Given the description of an element on the screen output the (x, y) to click on. 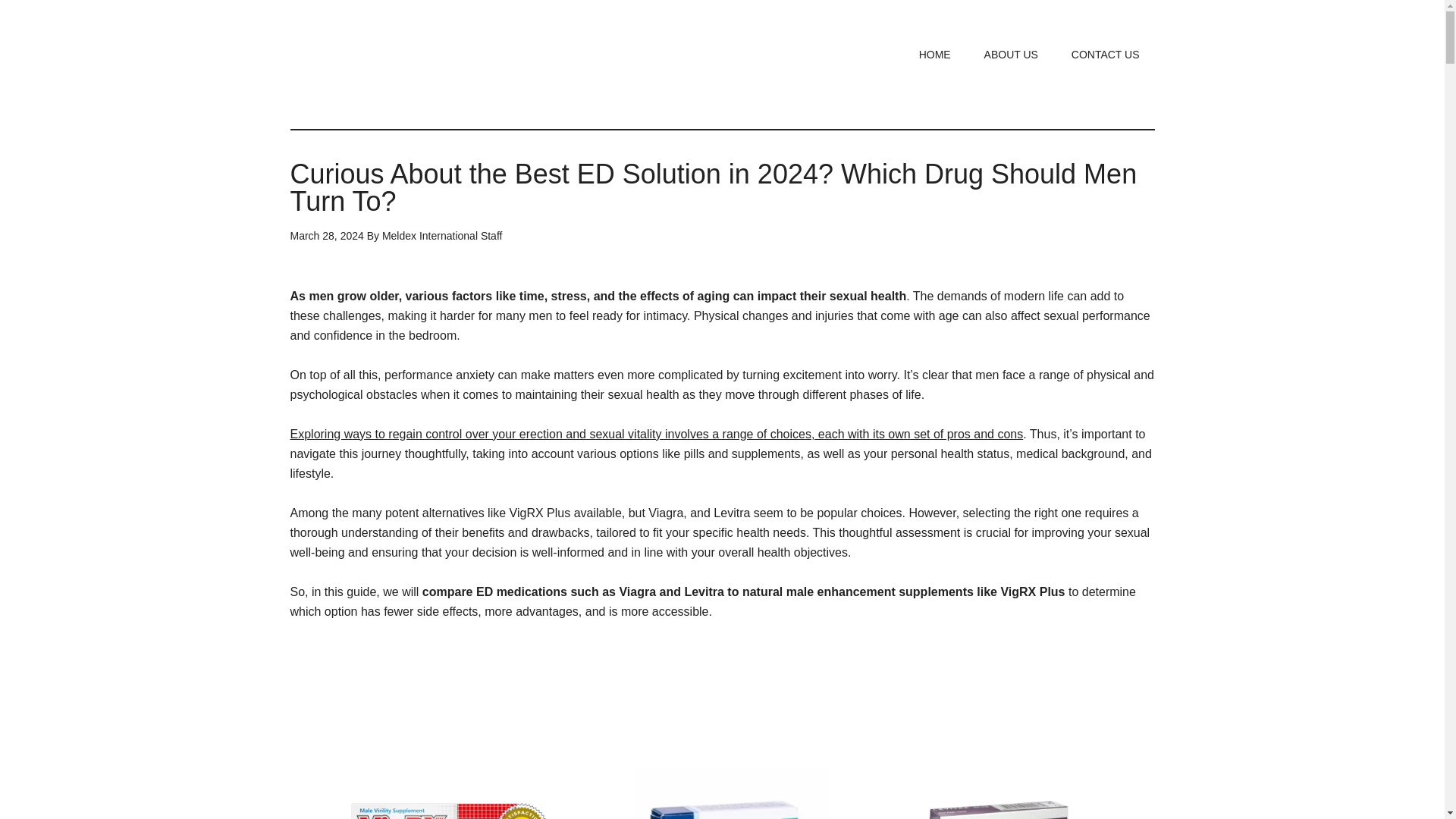
Meldex International Staff (441, 235)
ABOUT US (1010, 54)
Meldex International (433, 64)
HOME (935, 54)
CONTACT US (1105, 54)
